Given the description of an element on the screen output the (x, y) to click on. 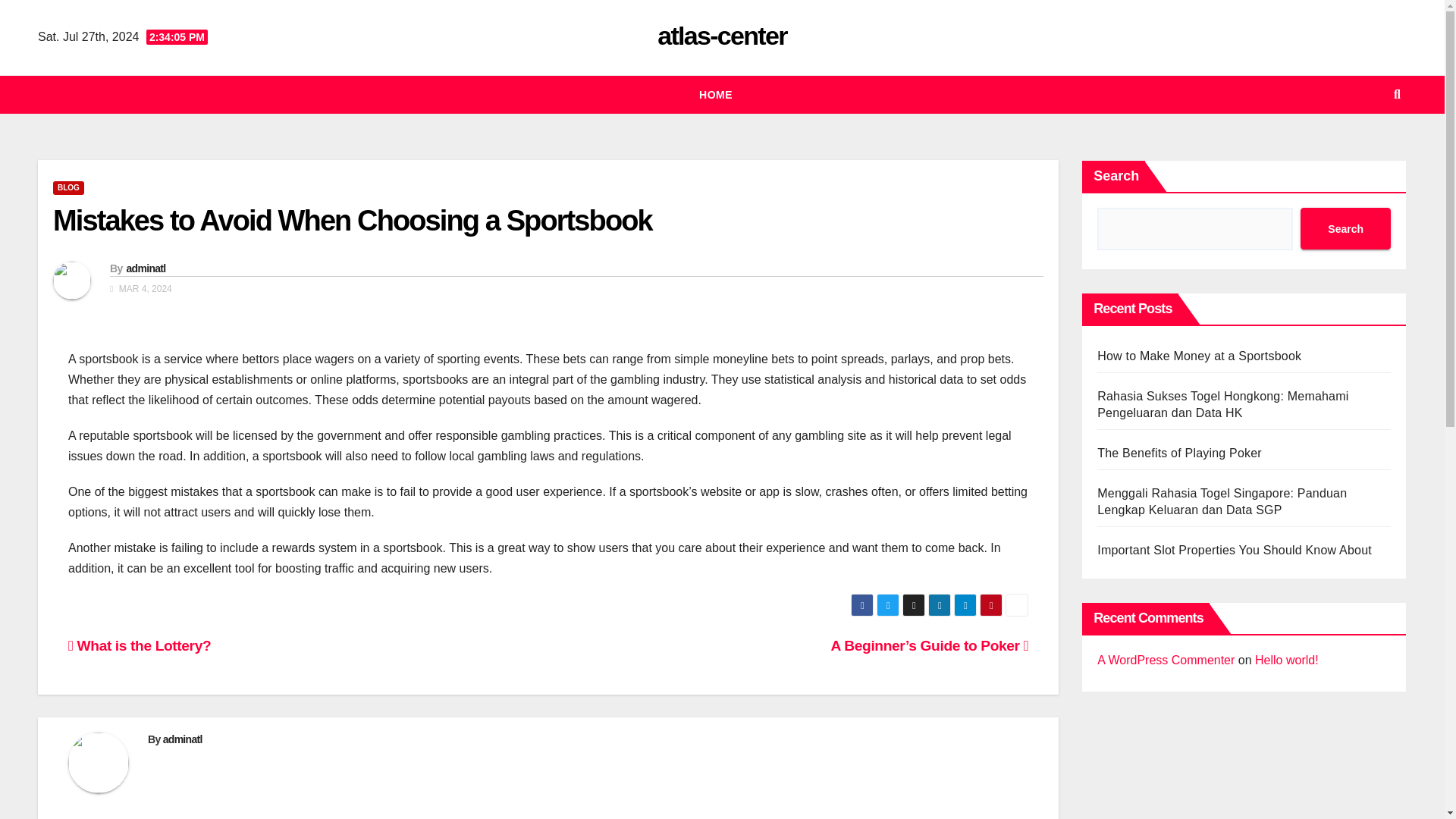
Important Slot Properties You Should Know About (1234, 549)
BLOG (68, 187)
Permalink to: Mistakes to Avoid When Choosing a Sportsbook (352, 220)
A WordPress Commenter (1165, 659)
The Benefits of Playing Poker (1179, 452)
HOME (715, 94)
Home (715, 94)
Search (1345, 228)
How to Make Money at a Sportsbook (1199, 355)
What is the Lottery? (139, 645)
adminatl (182, 739)
adminatl (145, 268)
Mistakes to Avoid When Choosing a Sportsbook (352, 220)
